Given the description of an element on the screen output the (x, y) to click on. 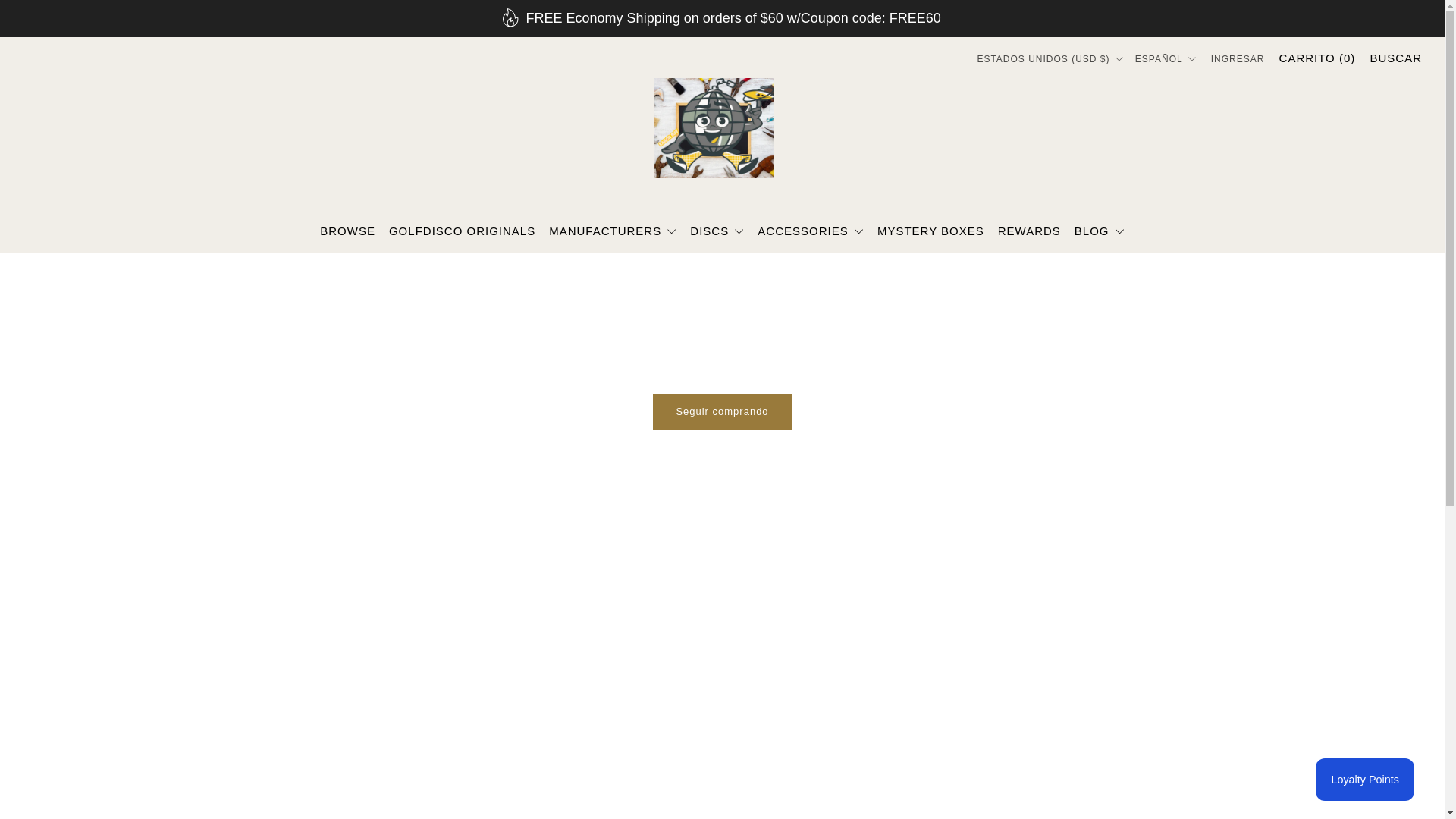
MANUFACTURERS (612, 231)
ACCESSORIES (810, 231)
DISCS (717, 231)
GOLFDISCO ORIGINALS (461, 231)
MYSTERY BOXES (930, 231)
BROWSE (347, 231)
